Given the description of an element on the screen output the (x, y) to click on. 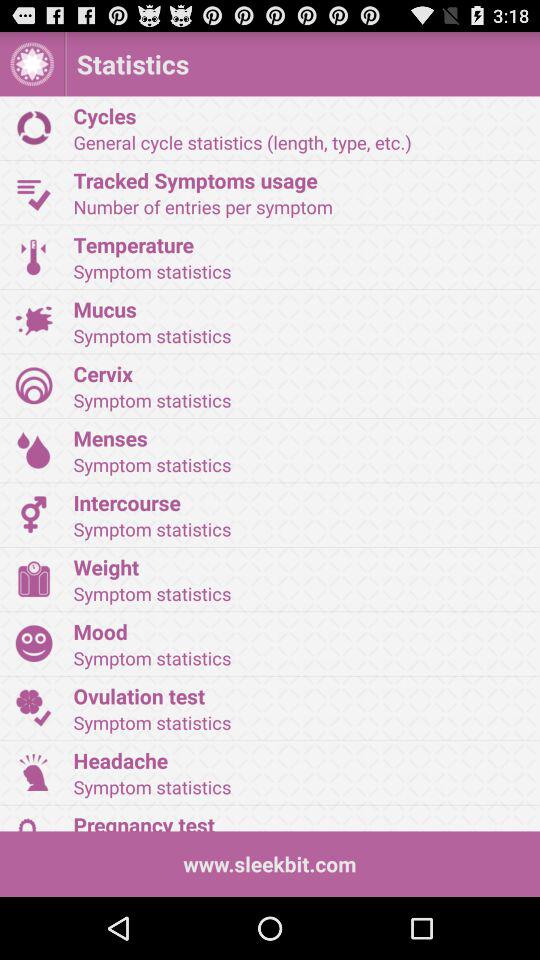
select the icon below the symptom statistics item (299, 437)
